Given the description of an element on the screen output the (x, y) to click on. 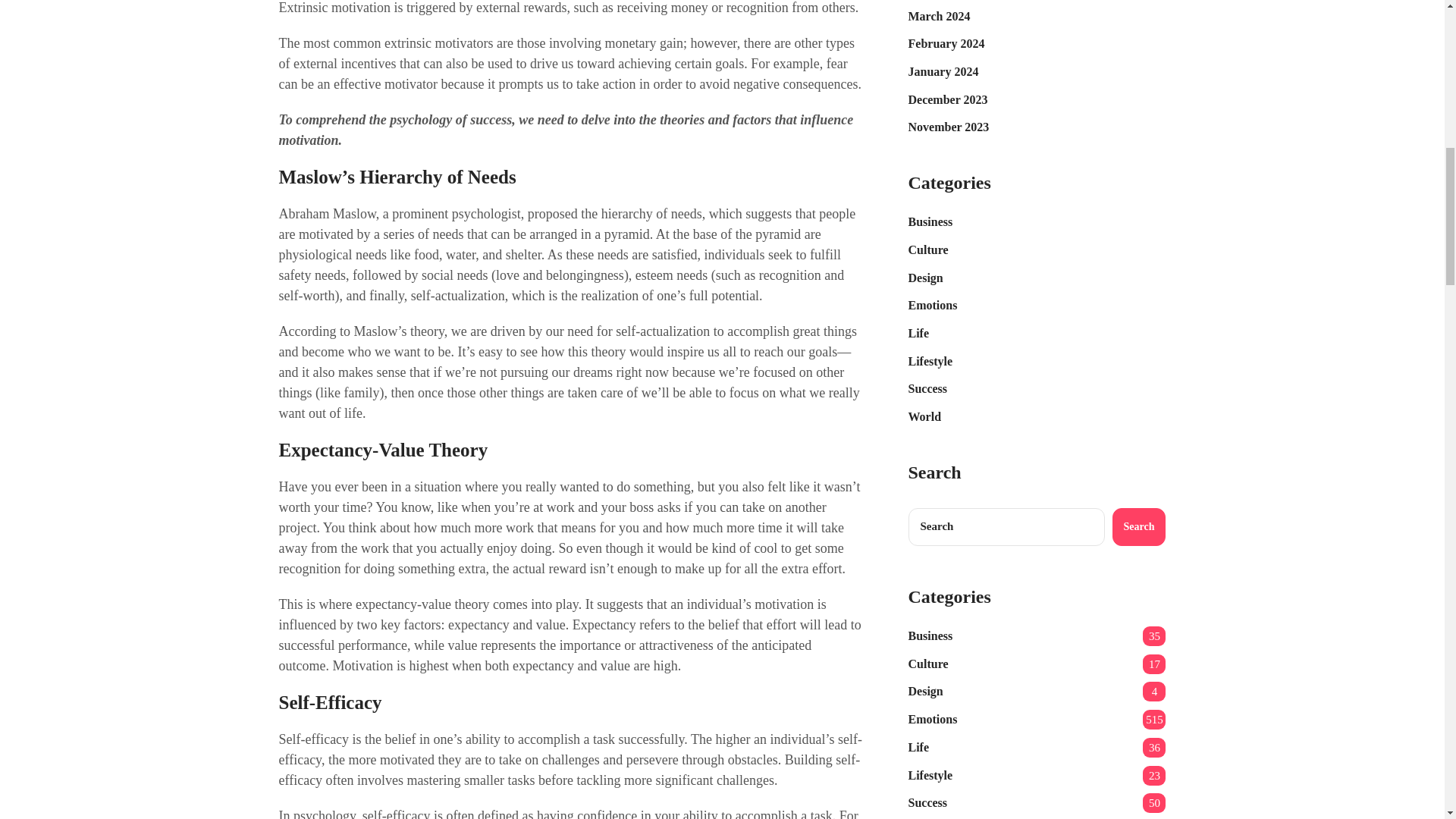
November 2023 (949, 127)
January 2024 (943, 72)
March 2024 (939, 16)
Business (930, 222)
Culture (928, 250)
Design (925, 278)
December 2023 (948, 100)
February 2024 (946, 44)
Success (927, 389)
Lifestyle (930, 362)
